Given the description of an element on the screen output the (x, y) to click on. 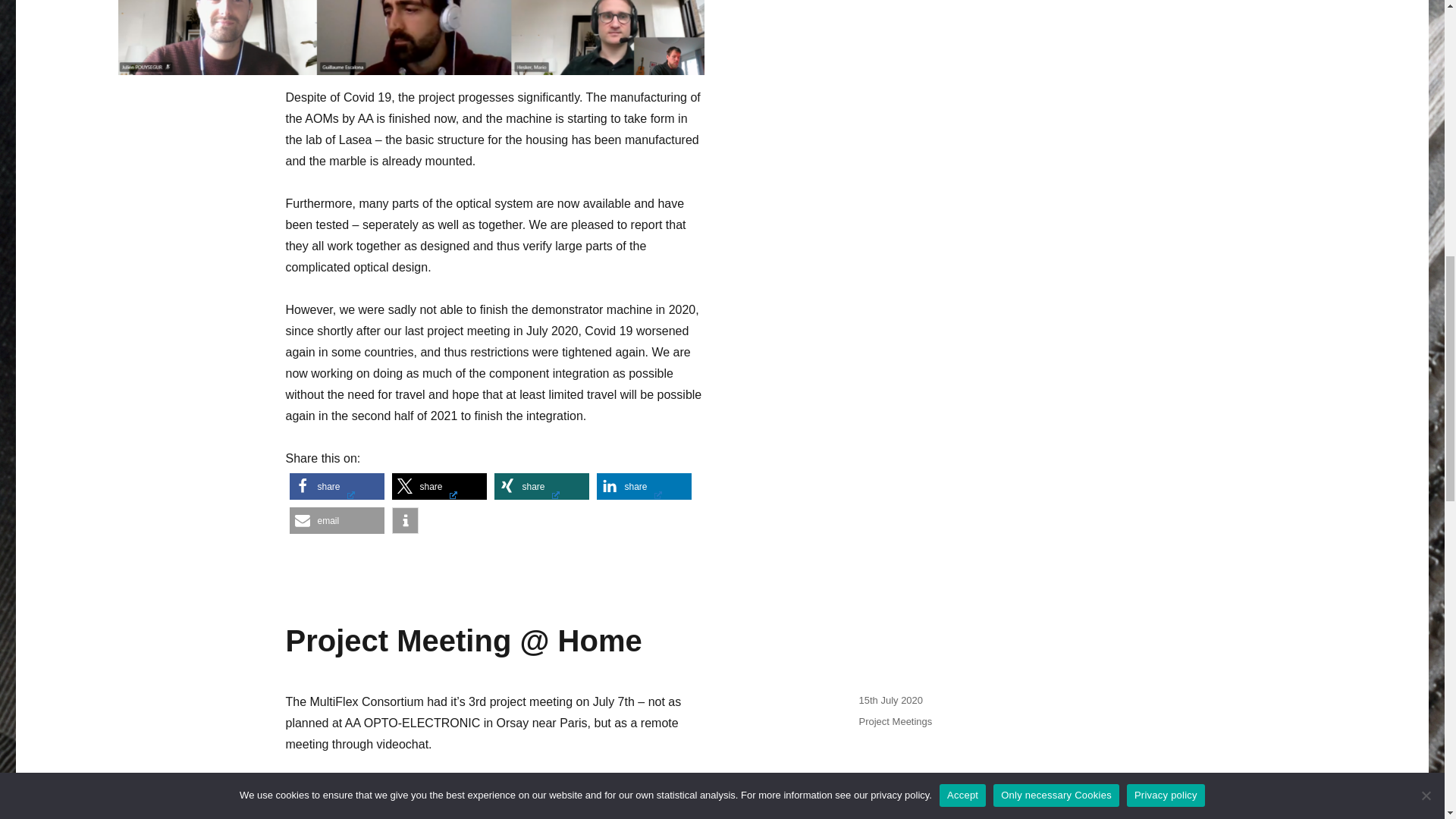
Project Meetings (895, 721)
Share on Facebook (336, 486)
15th July 2020 (891, 699)
Share on XING (542, 486)
share  (438, 486)
share  (642, 486)
Share on X (438, 486)
Send by email (336, 519)
Share on LinkedIn (642, 486)
email  (336, 519)
share  (336, 486)
share  (542, 486)
